Given the description of an element on the screen output the (x, y) to click on. 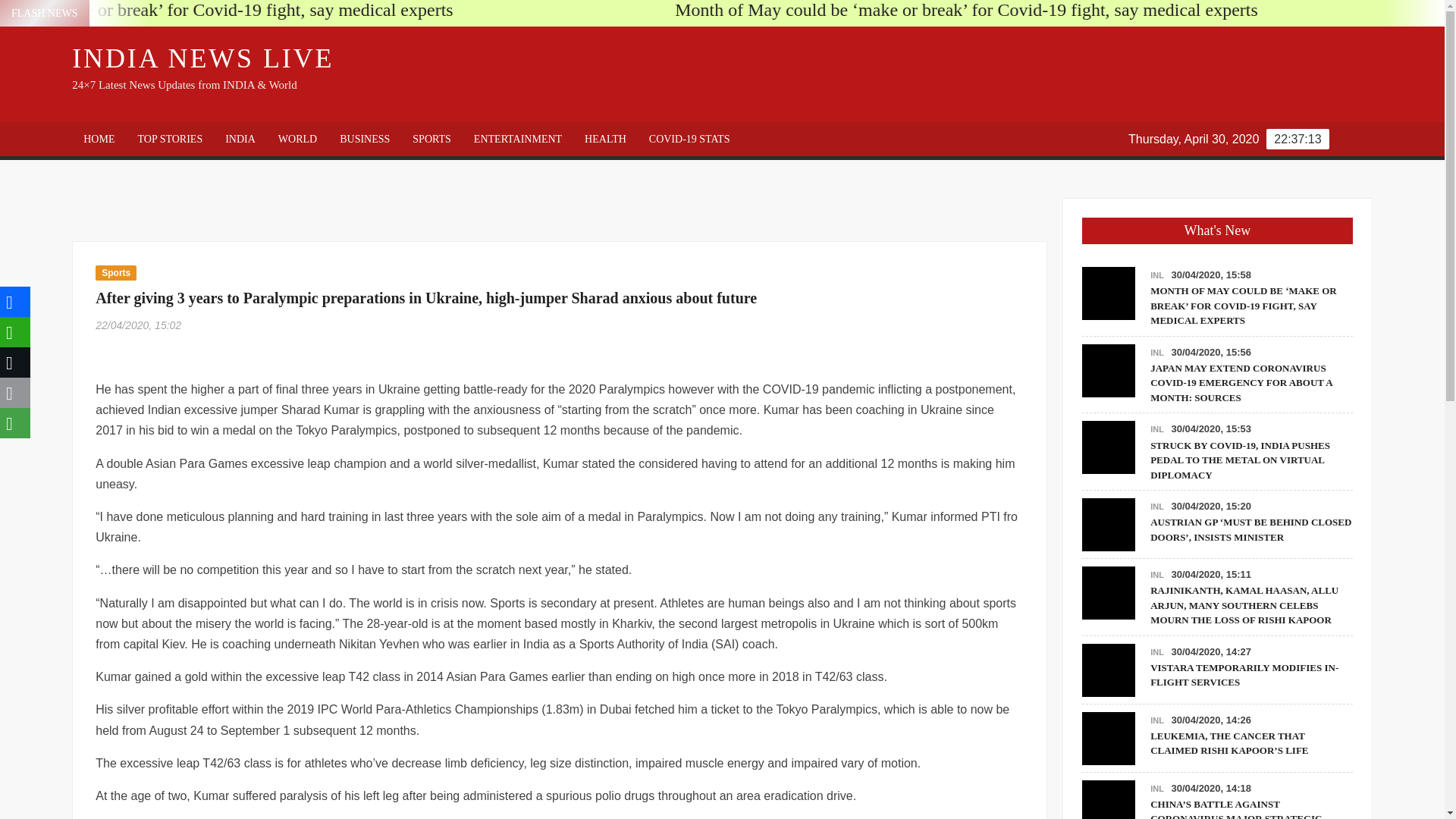
Facebook (15, 301)
SPORTS (432, 138)
Email This (15, 392)
WhatsApp (15, 331)
INL (1156, 719)
INL (1156, 574)
More Options (15, 422)
INL (1156, 429)
INDIA (240, 138)
COVID-19 STATS (689, 138)
